Given the description of an element on the screen output the (x, y) to click on. 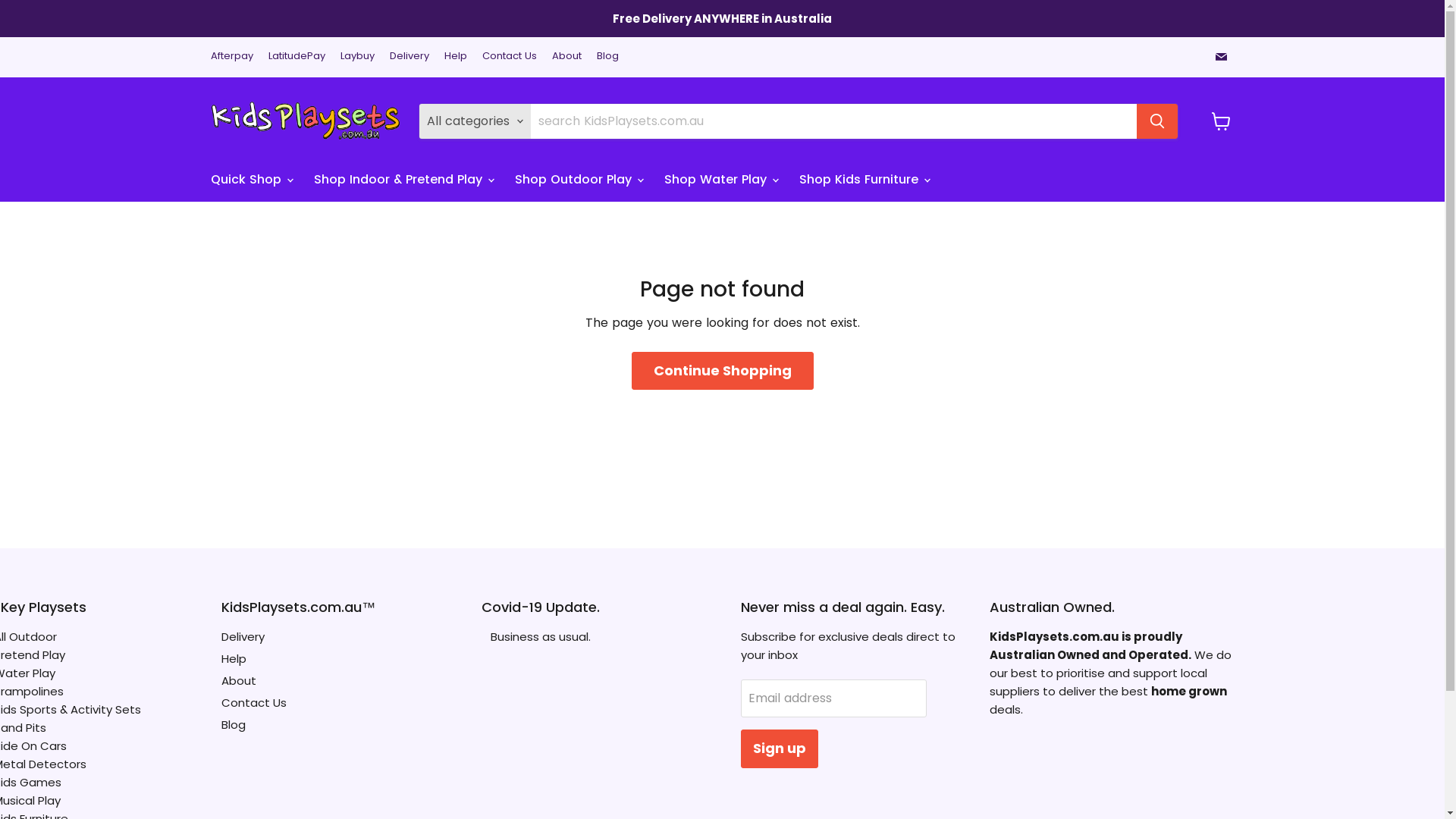
About Element type: text (566, 56)
LatitudePay Element type: text (296, 56)
Continue Shopping Element type: text (721, 370)
Delivery Element type: text (409, 56)
Find us on Email Element type: text (1220, 55)
Blog Element type: text (607, 56)
Laybuy Element type: text (356, 56)
Contact Us Element type: text (509, 56)
Delivery Element type: text (242, 636)
Blog Element type: text (233, 724)
Help Element type: text (233, 658)
Afterpay Element type: text (231, 56)
View cart Element type: text (1221, 121)
Contact Us Element type: text (253, 702)
Sign up Element type: text (779, 748)
About Element type: text (238, 680)
Help Element type: text (455, 56)
